Given the description of an element on the screen output the (x, y) to click on. 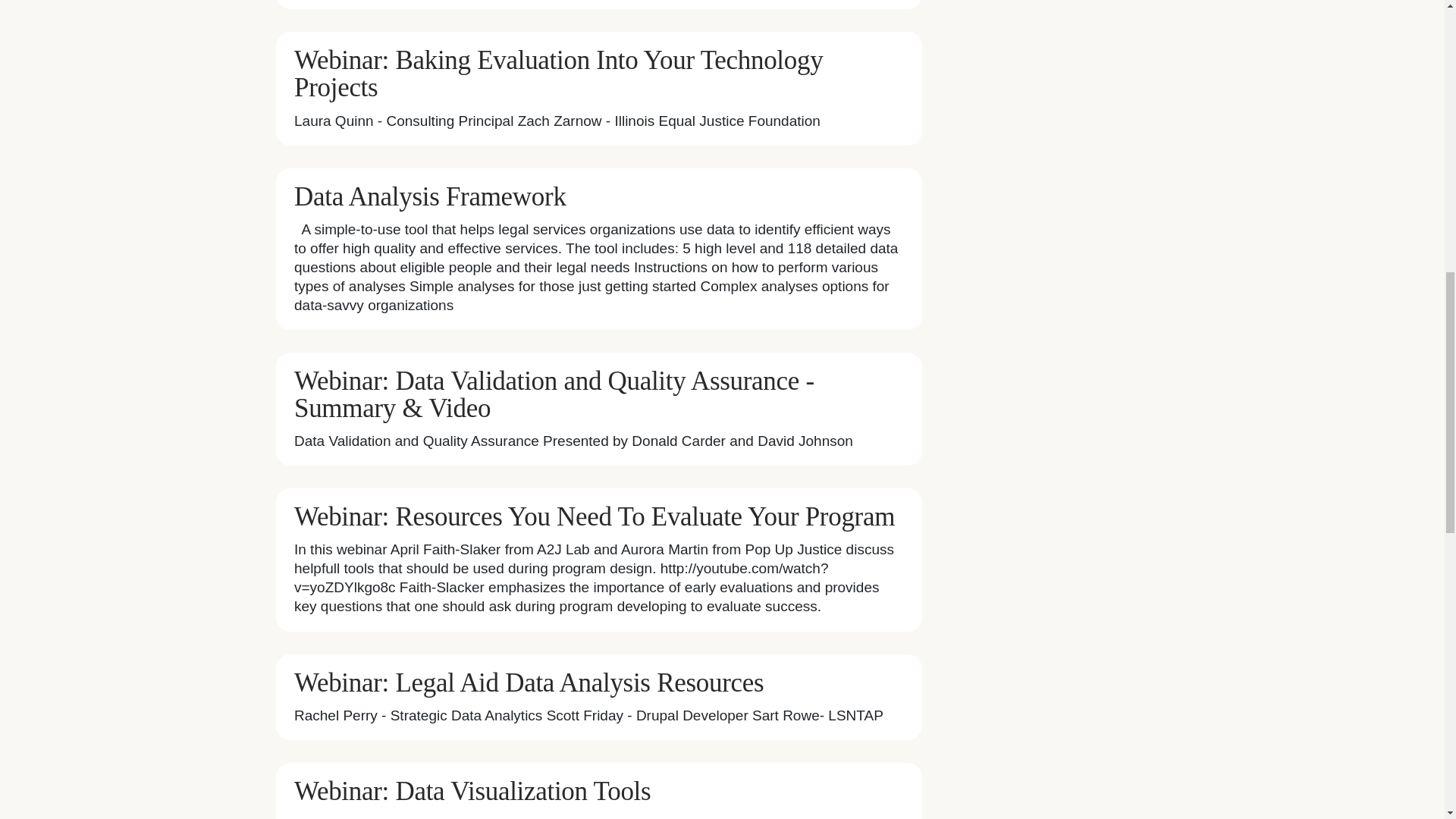
Webinar: Data Visualization Tools (472, 790)
Webinar: Resources You Need To Evaluate Your Program (594, 516)
Data Analysis Framework (430, 196)
Webinar: Legal Aid Data Analysis Resources (528, 682)
Webinar: Baking Evaluation Into Your Technology Projects (558, 73)
